Given the description of an element on the screen output the (x, y) to click on. 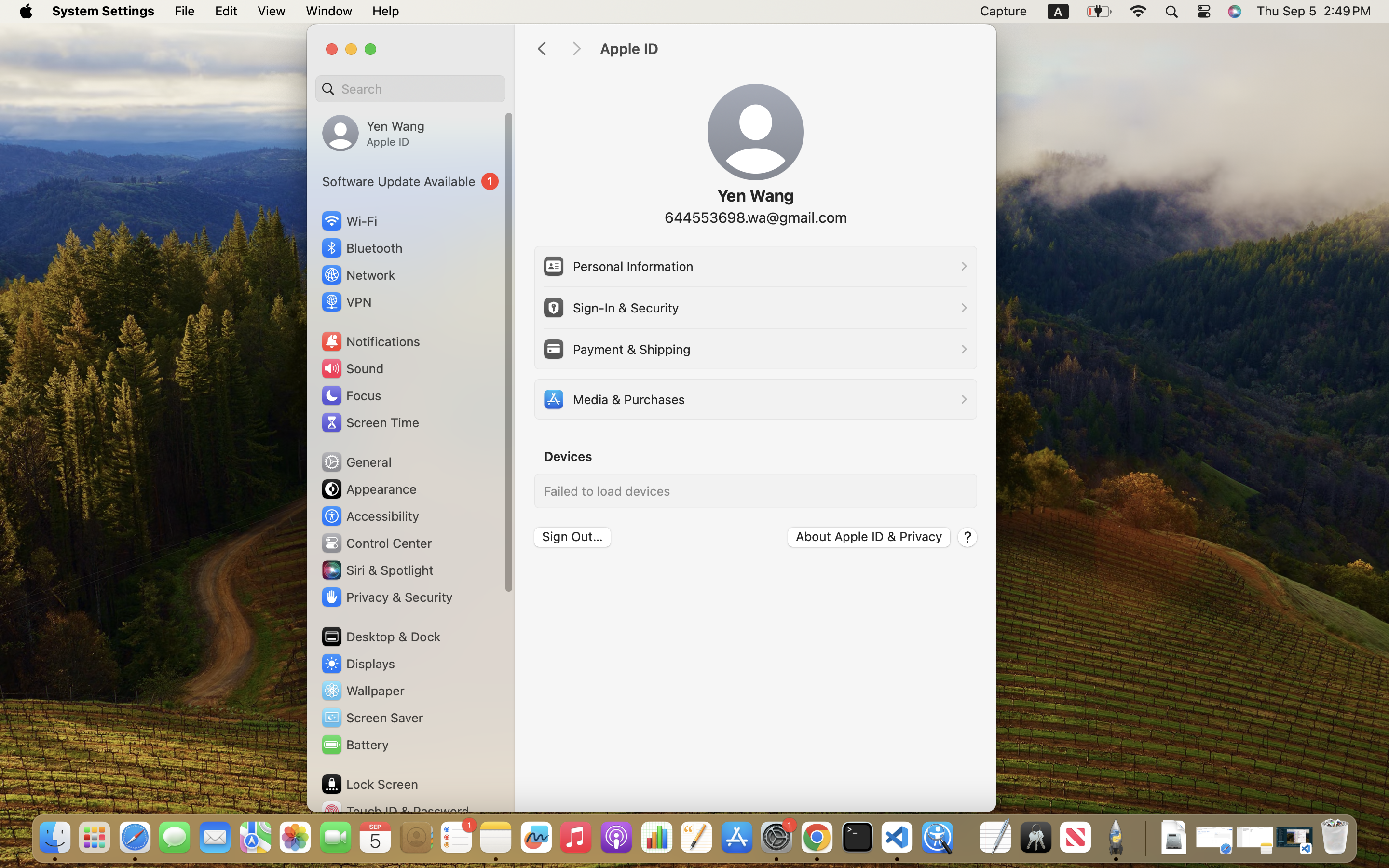
Screen Time Element type: AXStaticText (369, 422)
Touch ID & Password Element type: AXStaticText (394, 810)
VPN Element type: AXStaticText (345, 301)
Lock Screen Element type: AXStaticText (369, 783)
Desktop & Dock Element type: AXStaticText (380, 636)
